Given the description of an element on the screen output the (x, y) to click on. 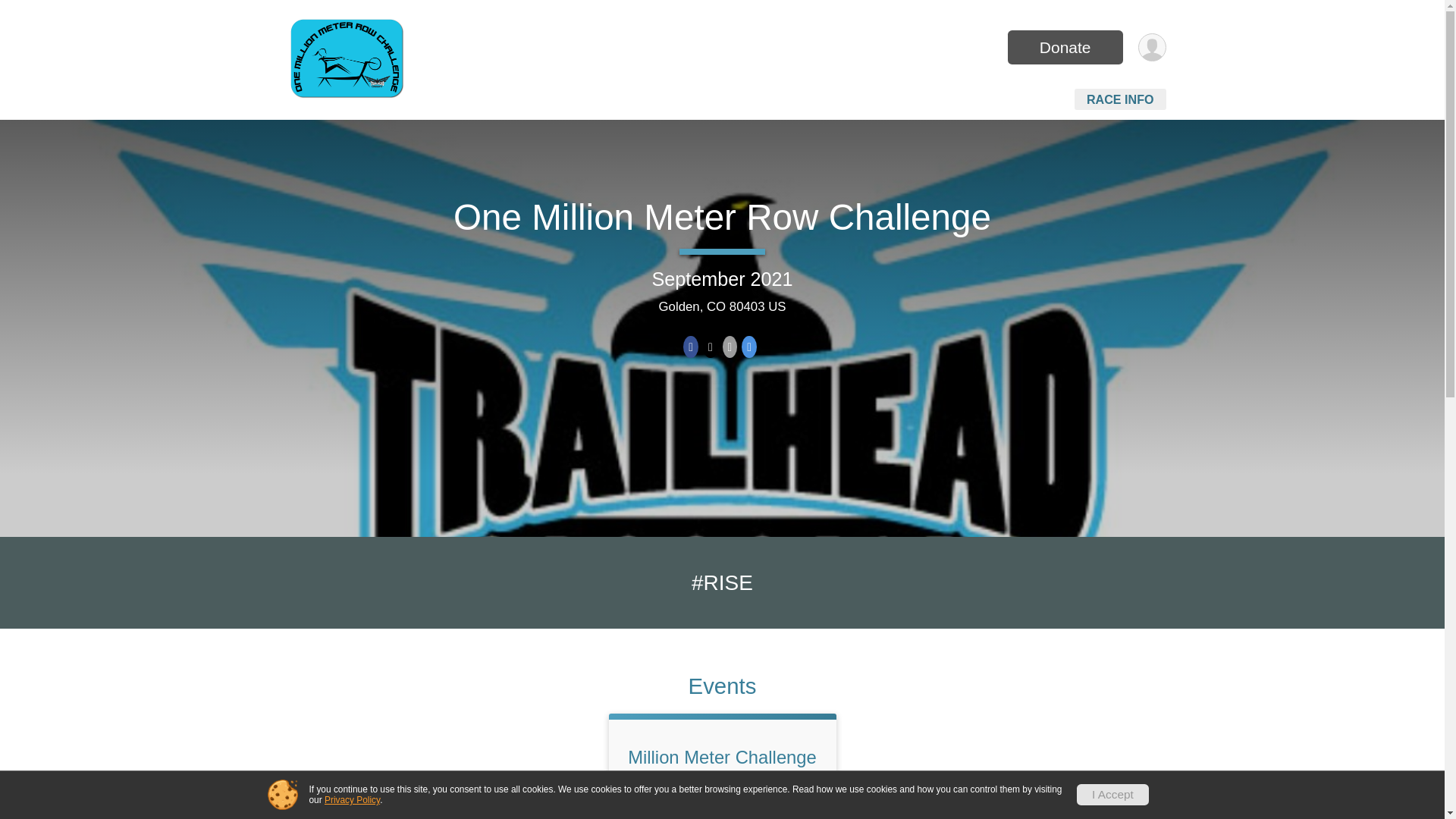
Privacy Policy (352, 799)
Million Meter Challenge (721, 756)
One Million Meter Row Challenge (721, 217)
RACE INFO (1119, 98)
I Accept (1112, 794)
Donate (1064, 47)
